Given the description of an element on the screen output the (x, y) to click on. 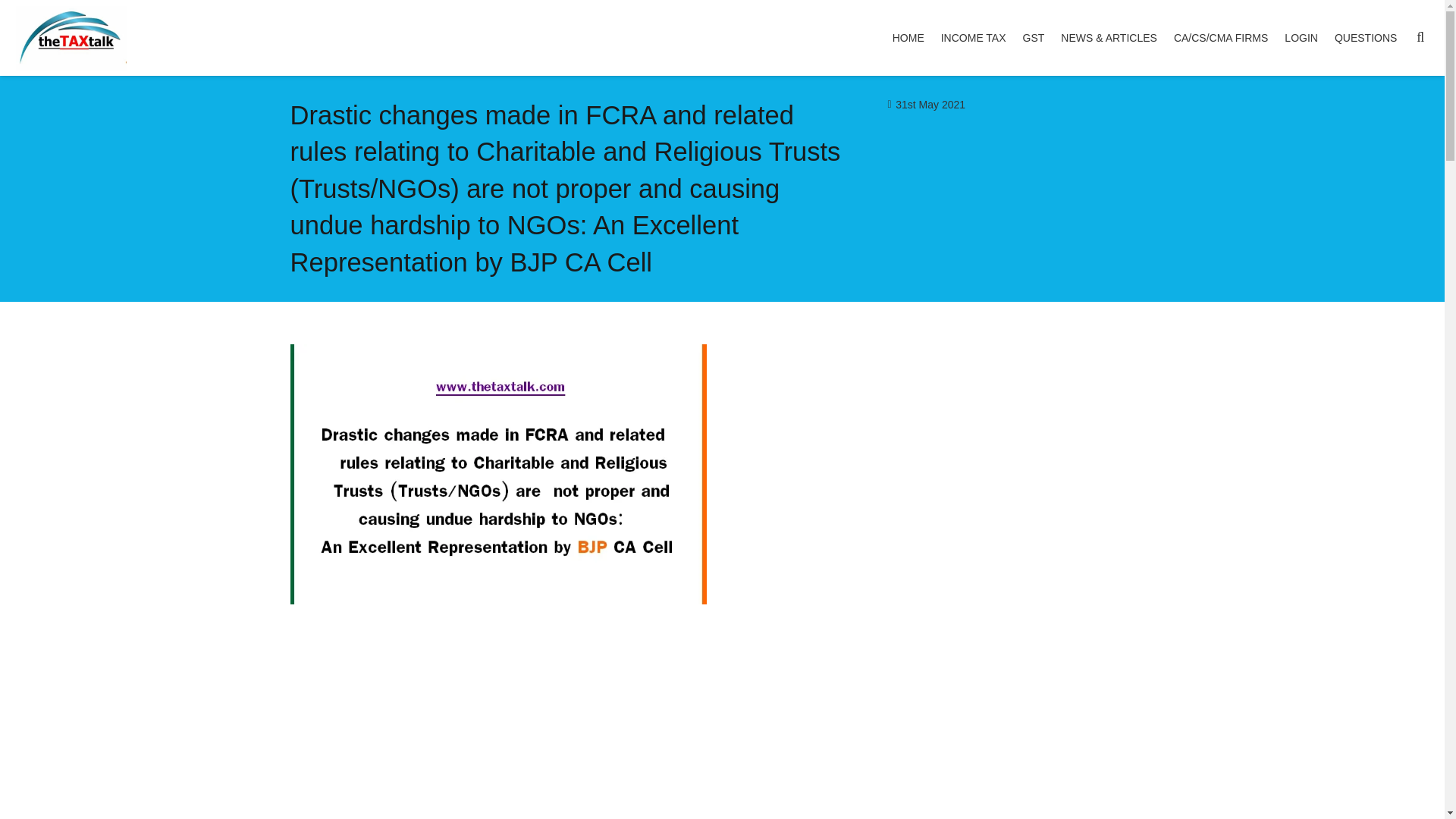
INCOME TAX (973, 38)
Advertisement (946, 708)
